Given the description of an element on the screen output the (x, y) to click on. 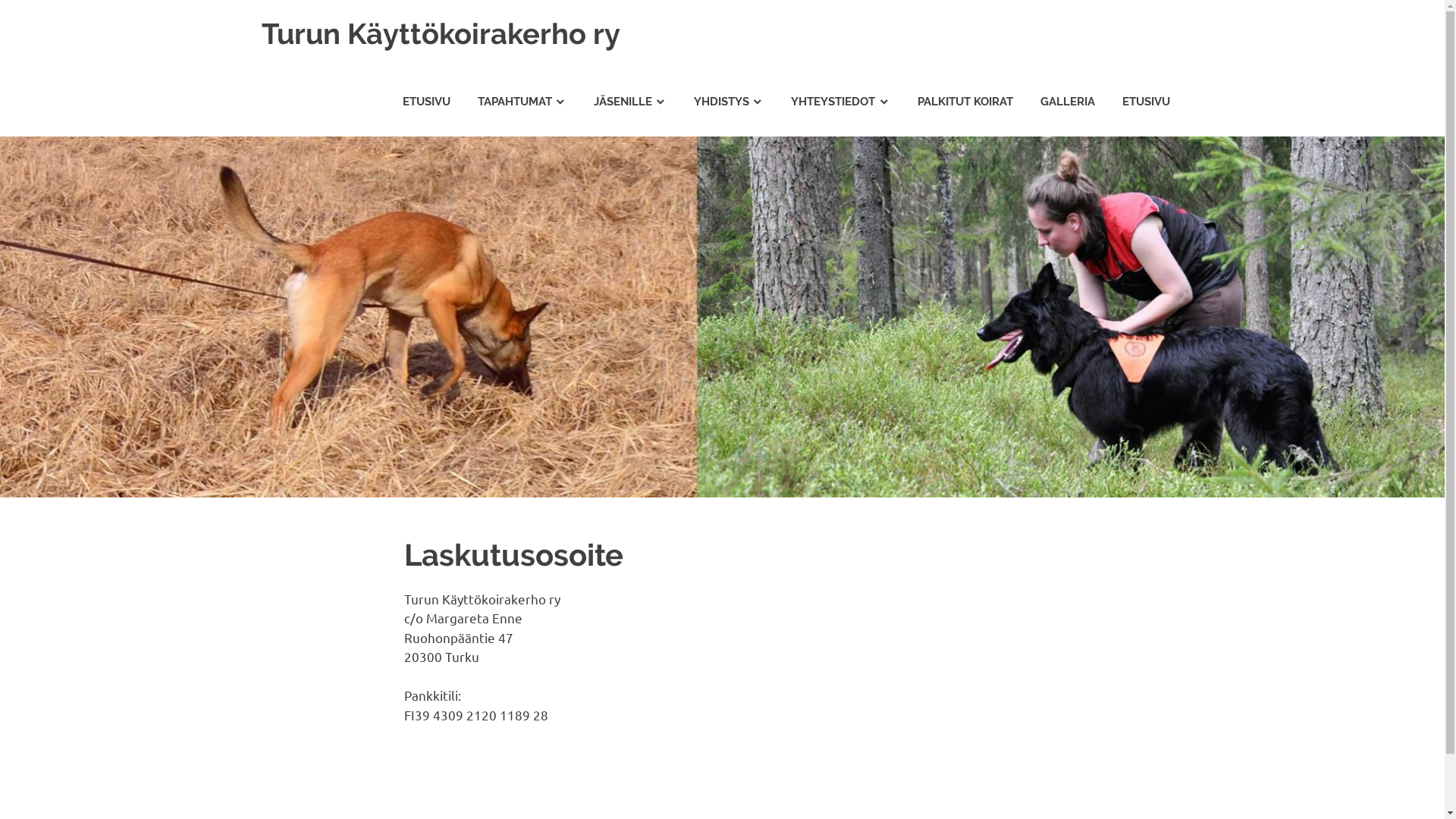
GALLERIA Element type: text (1067, 101)
ETUSIVU Element type: text (426, 101)
TAPAHTUMAT Element type: text (522, 101)
ETUSIVU Element type: text (1145, 101)
YHTEYSTIEDOT Element type: text (840, 101)
PALKITUT KOIRAT Element type: text (964, 101)
YHDISTYS Element type: text (728, 101)
